Given the description of an element on the screen output the (x, y) to click on. 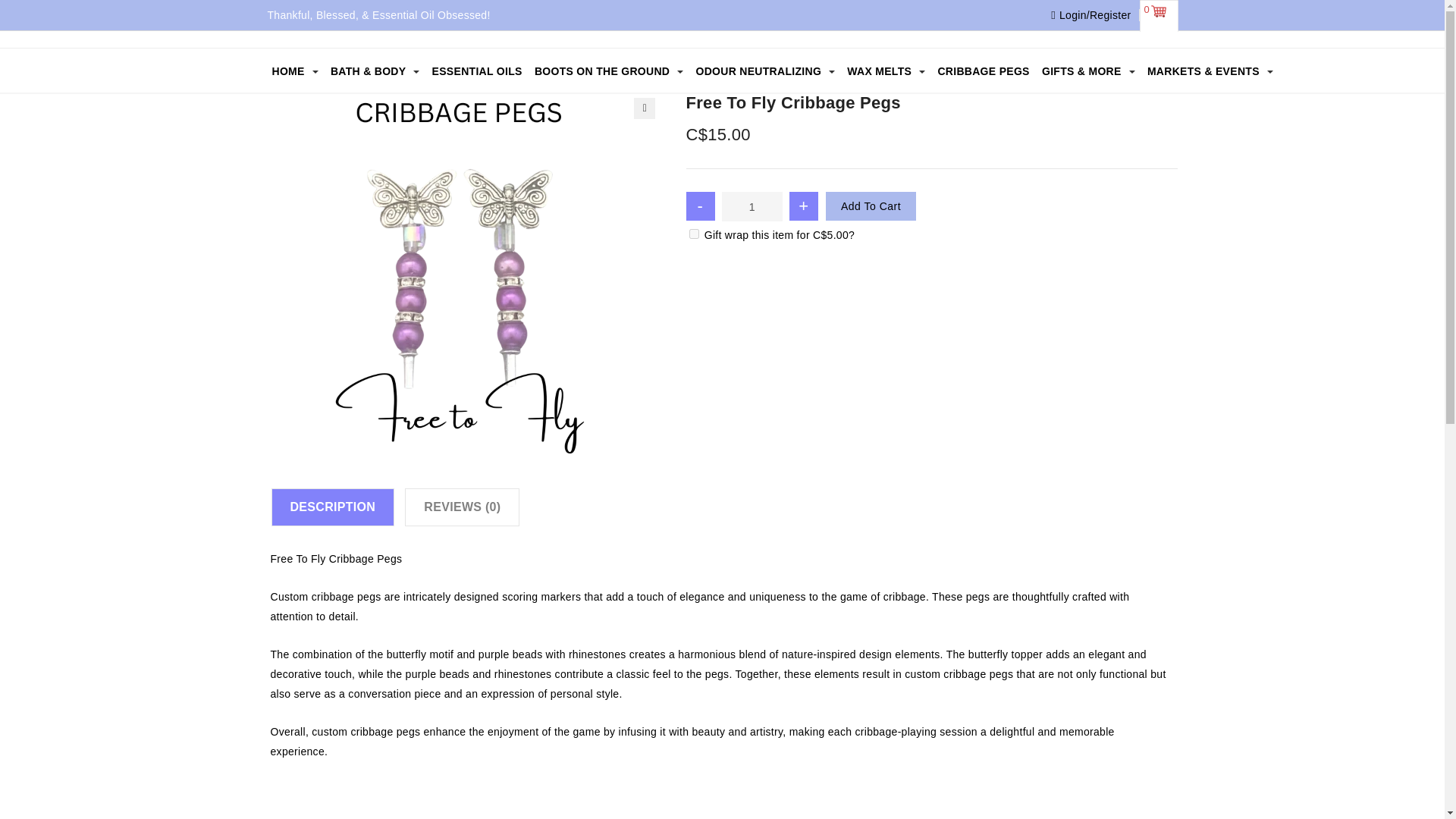
ESSENTIAL OILS (477, 70)
HOME (293, 70)
BOOTS ON THE GROUND (608, 70)
View your shopping cart (1157, 12)
Free to fly (463, 275)
WAX MELTS (886, 70)
- (699, 205)
Qty (752, 206)
1 (752, 206)
ODOUR NEUTRALIZING (765, 70)
yes (693, 234)
